Given the description of an element on the screen output the (x, y) to click on. 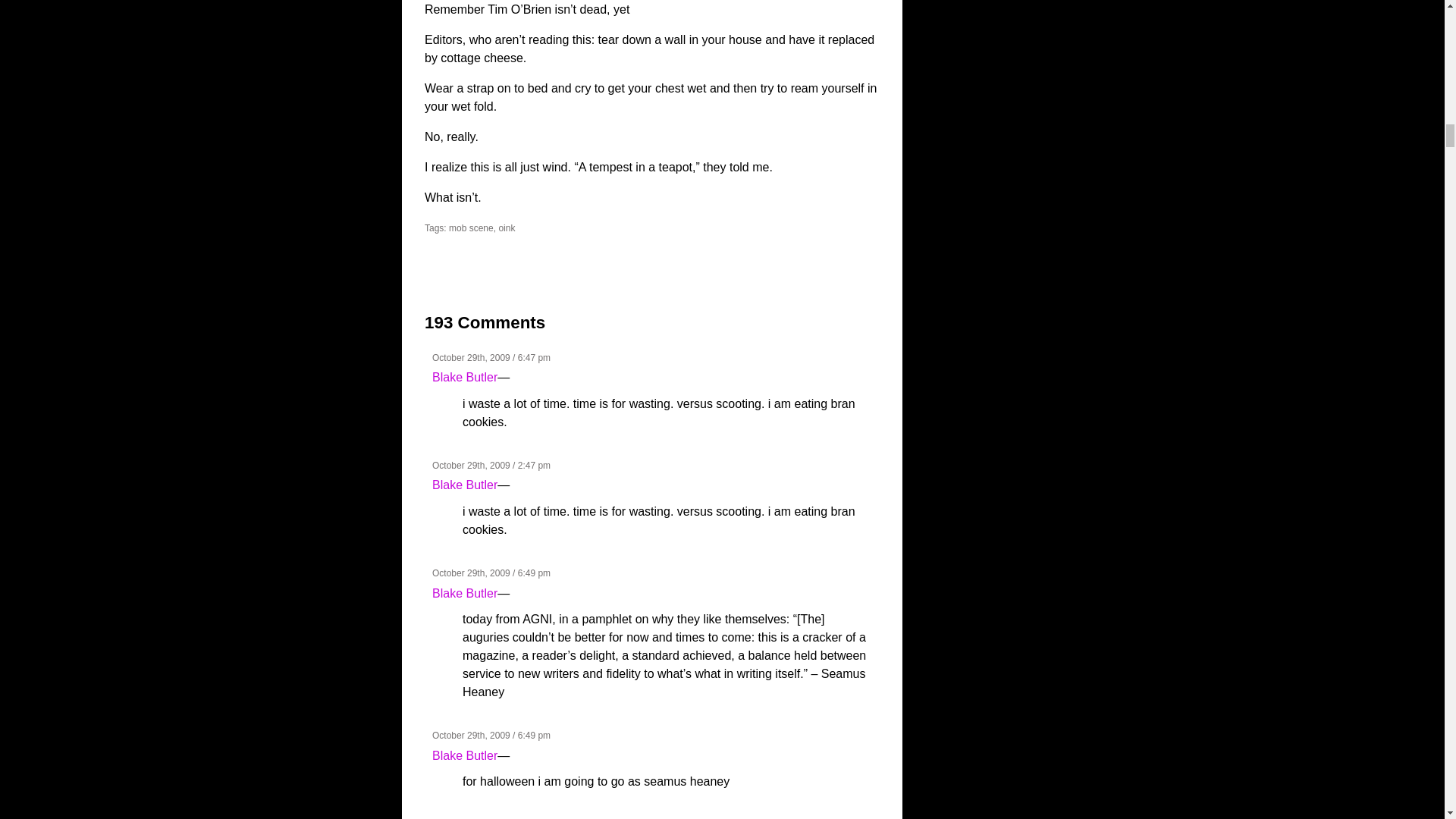
Blake Butler (464, 484)
oink (506, 227)
Blake Butler (464, 755)
mob scene (470, 227)
Blake Butler (464, 593)
Blake Butler (464, 377)
